Given the description of an element on the screen output the (x, y) to click on. 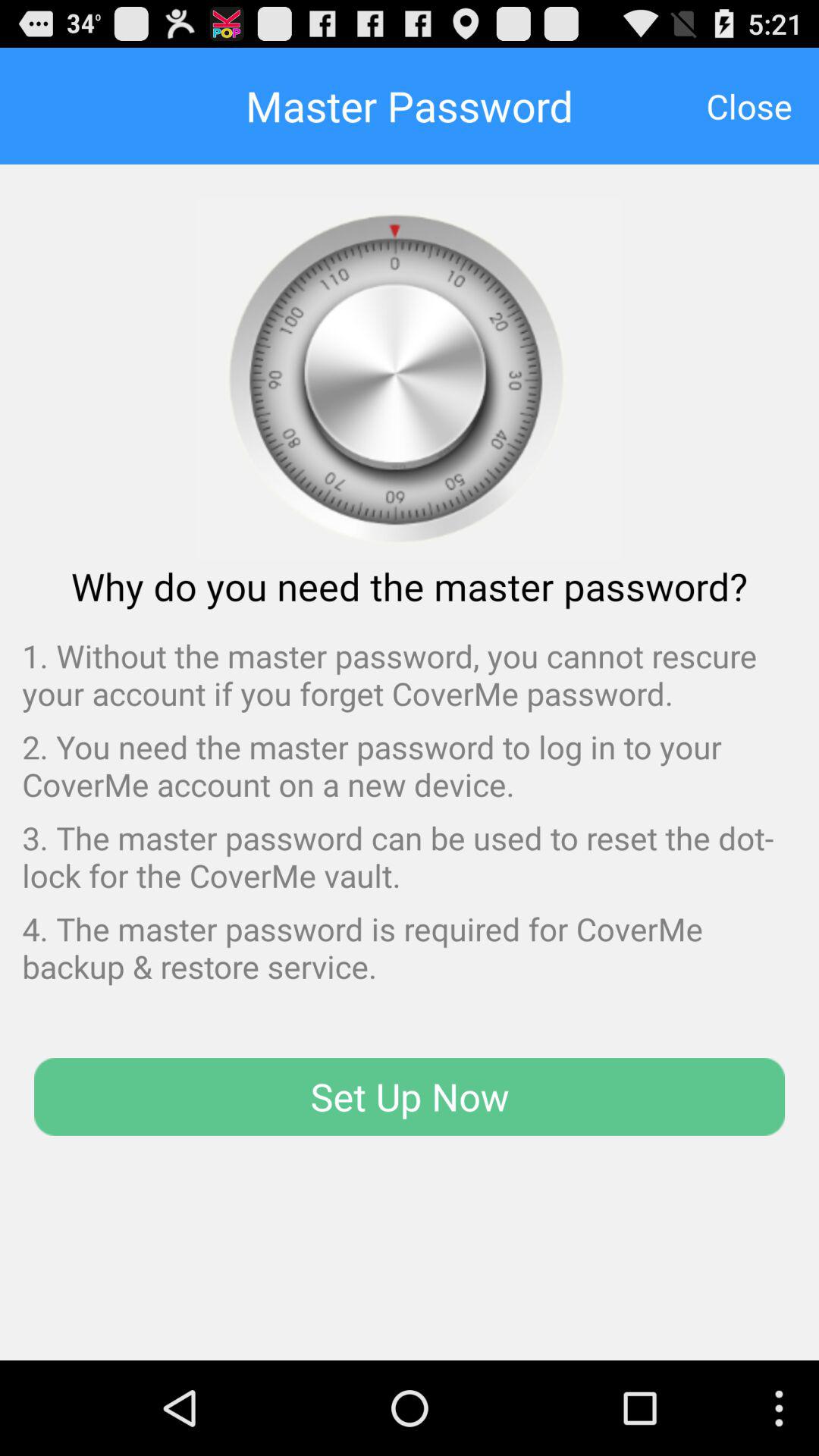
launch the item at the bottom (409, 1096)
